Given the description of an element on the screen output the (x, y) to click on. 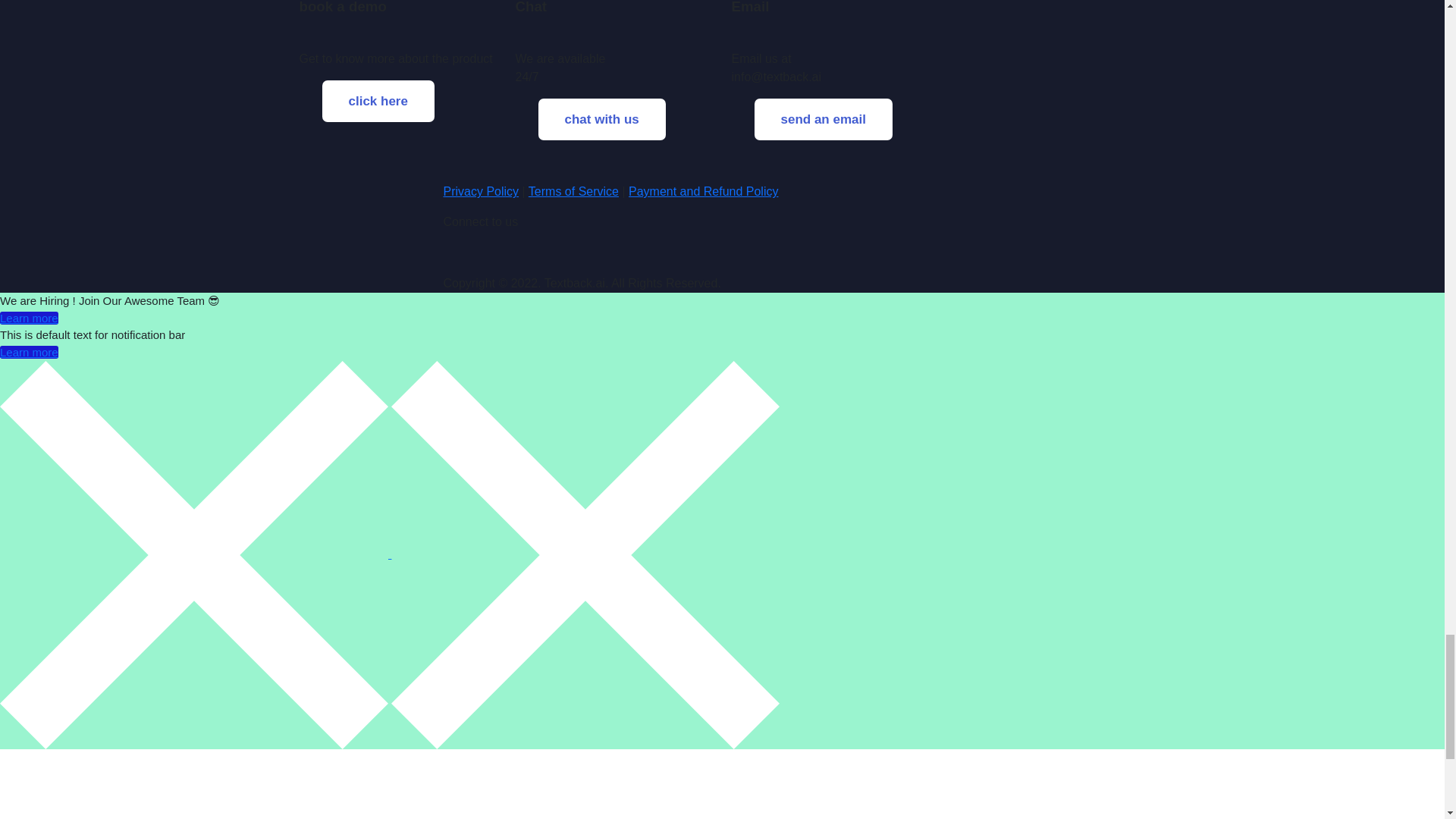
Terms of Service (573, 191)
click here (377, 101)
Privacy Policy (480, 191)
chat with us (601, 119)
send an email (822, 119)
Payment and Refund Policy (702, 191)
